Given the description of an element on the screen output the (x, y) to click on. 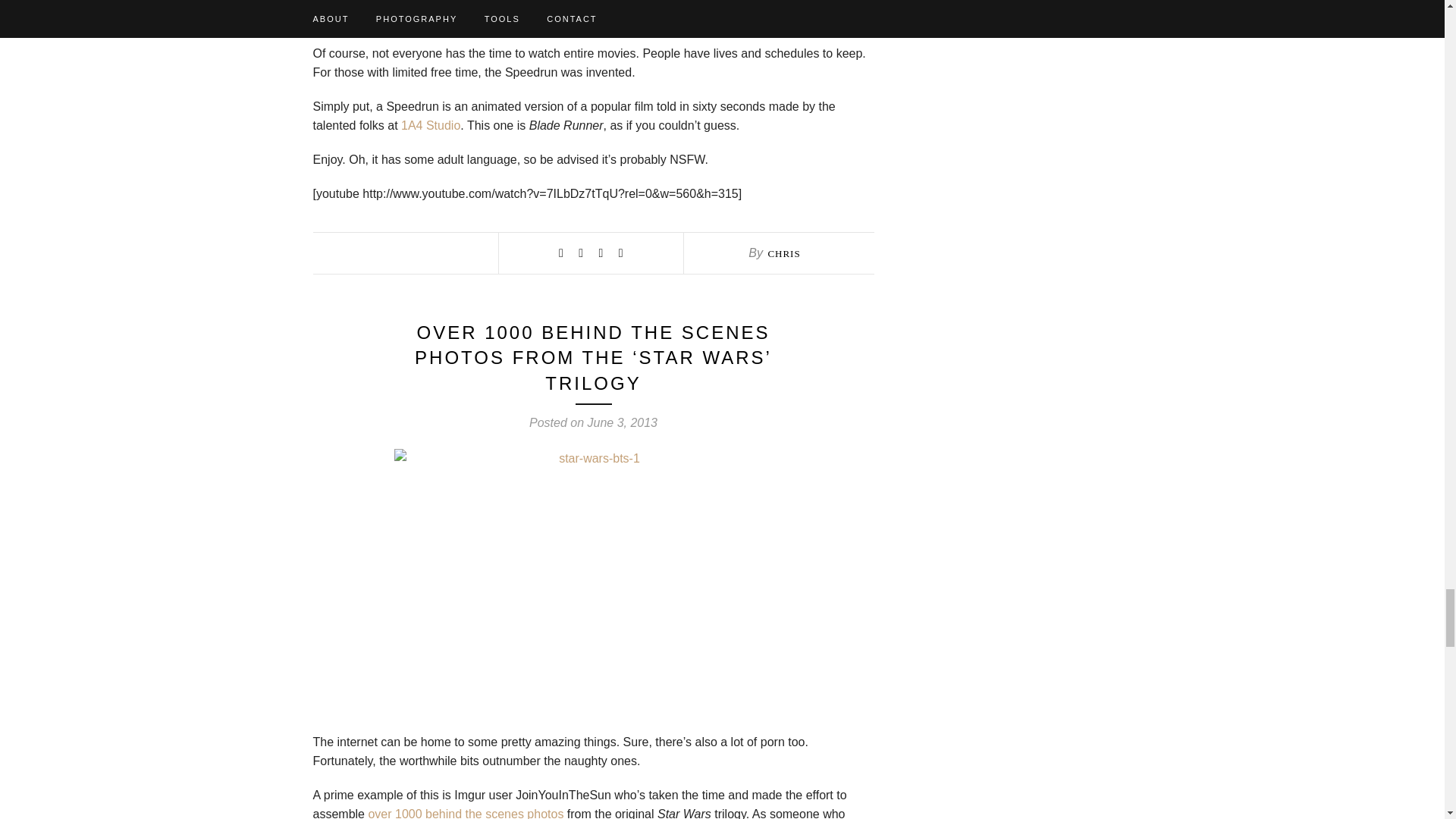
Posts by Chris (783, 253)
